Given the description of an element on the screen output the (x, y) to click on. 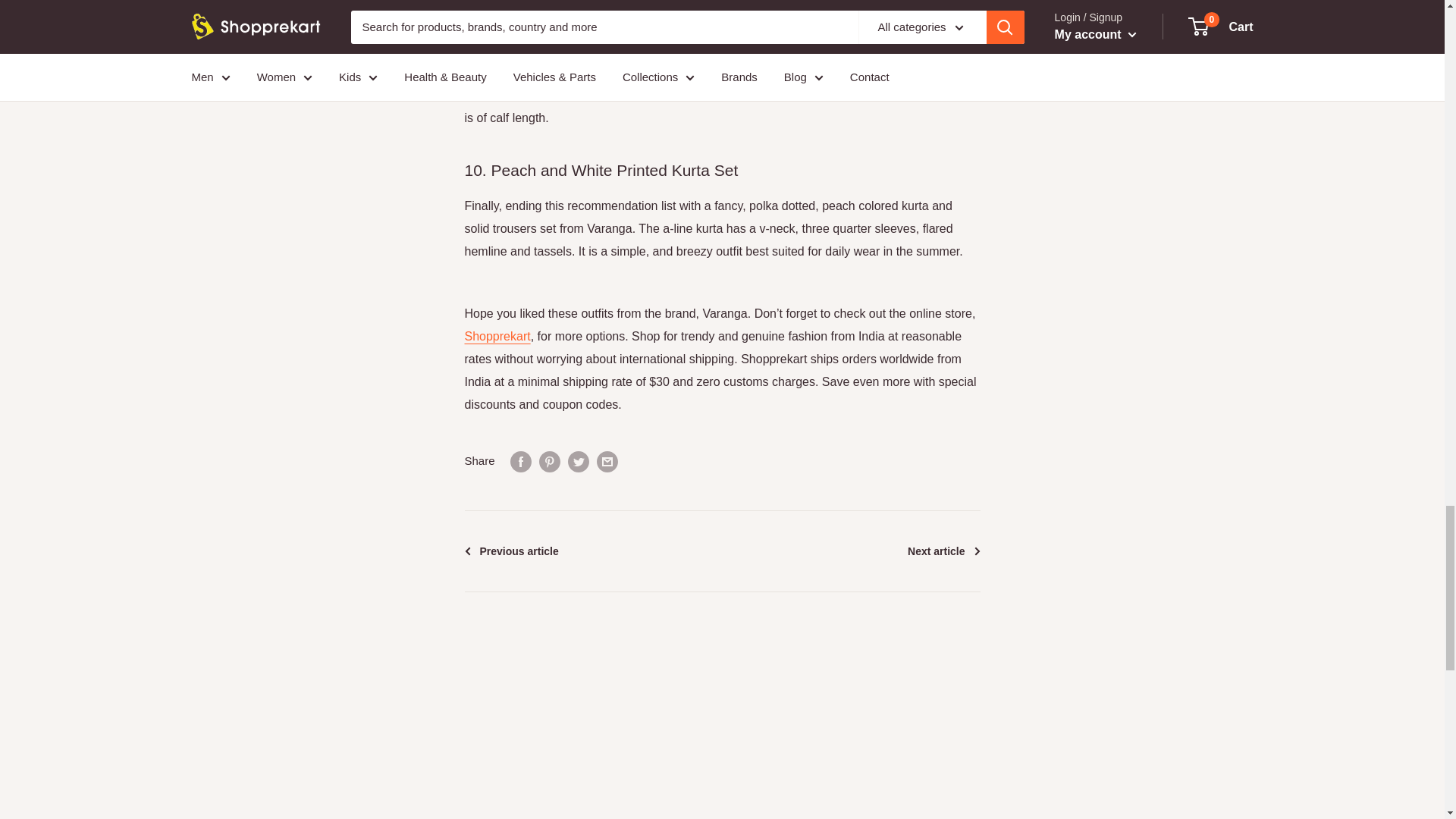
online shopping india (496, 336)
